Given the description of an element on the screen output the (x, y) to click on. 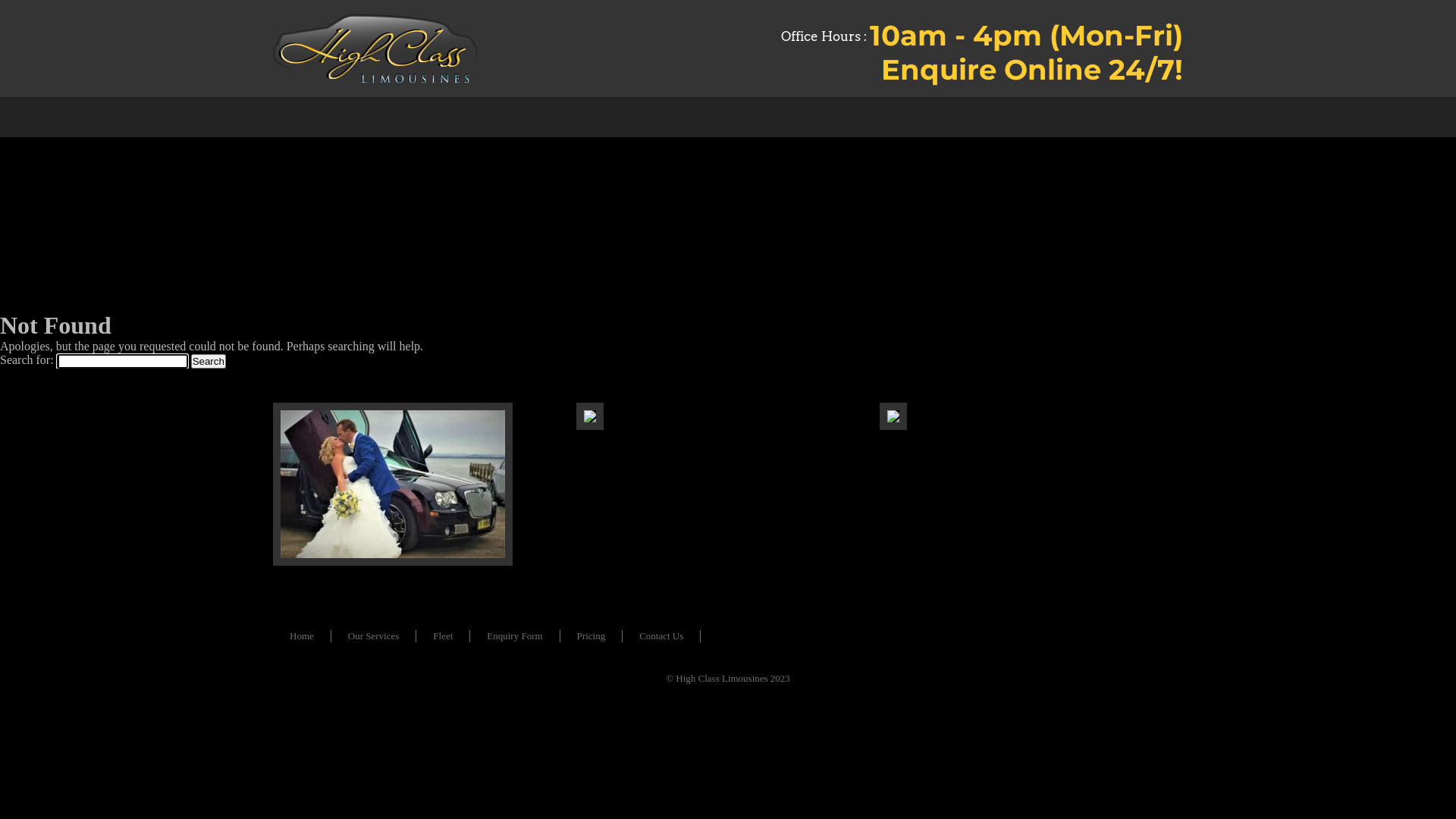
Enquiry Form Element type: text (514, 636)
Contact Us Element type: text (661, 636)
Pricing Element type: text (591, 636)
Our Services Element type: text (373, 636)
Home Element type: text (301, 636)
Fleet Element type: text (442, 636)
Search Element type: text (208, 361)
